Given the description of an element on the screen output the (x, y) to click on. 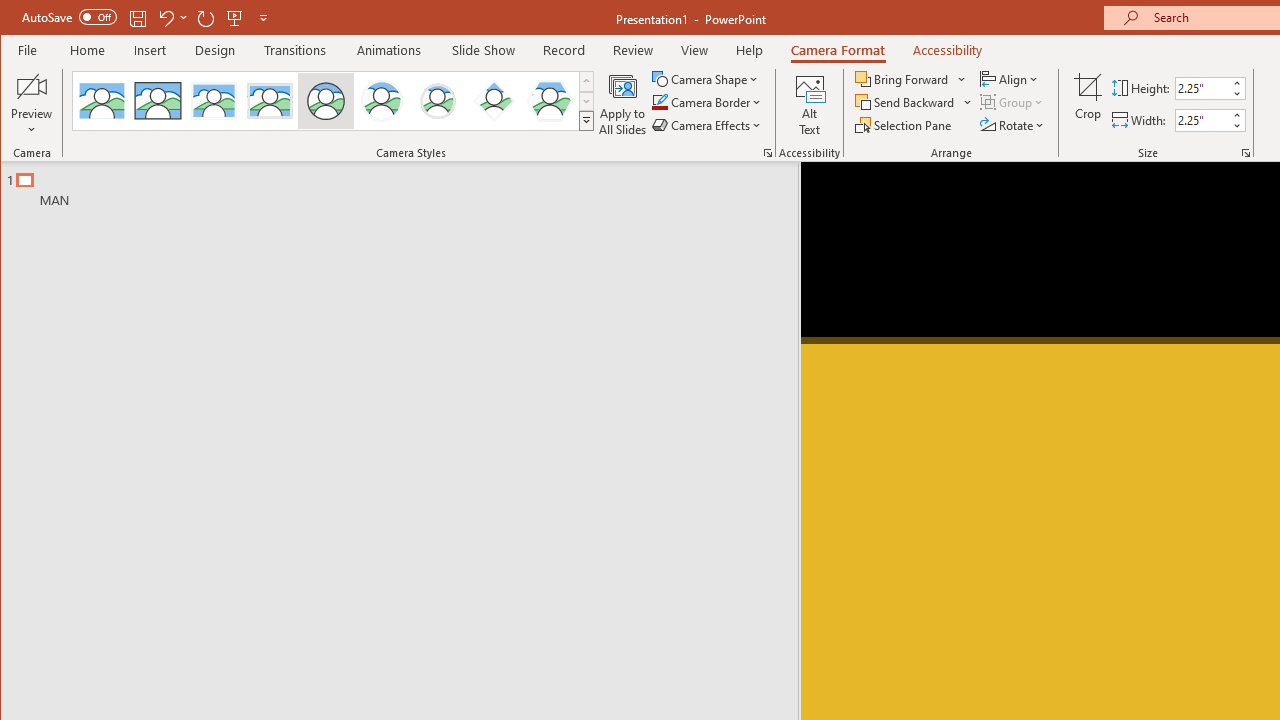
Cameo Width (1201, 120)
Center Shadow Rectangle (213, 100)
Center Shadow Hexagon (550, 100)
Rotate (1013, 124)
Center Shadow Diamond (493, 100)
Camera Format (838, 50)
